Given the description of an element on the screen output the (x, y) to click on. 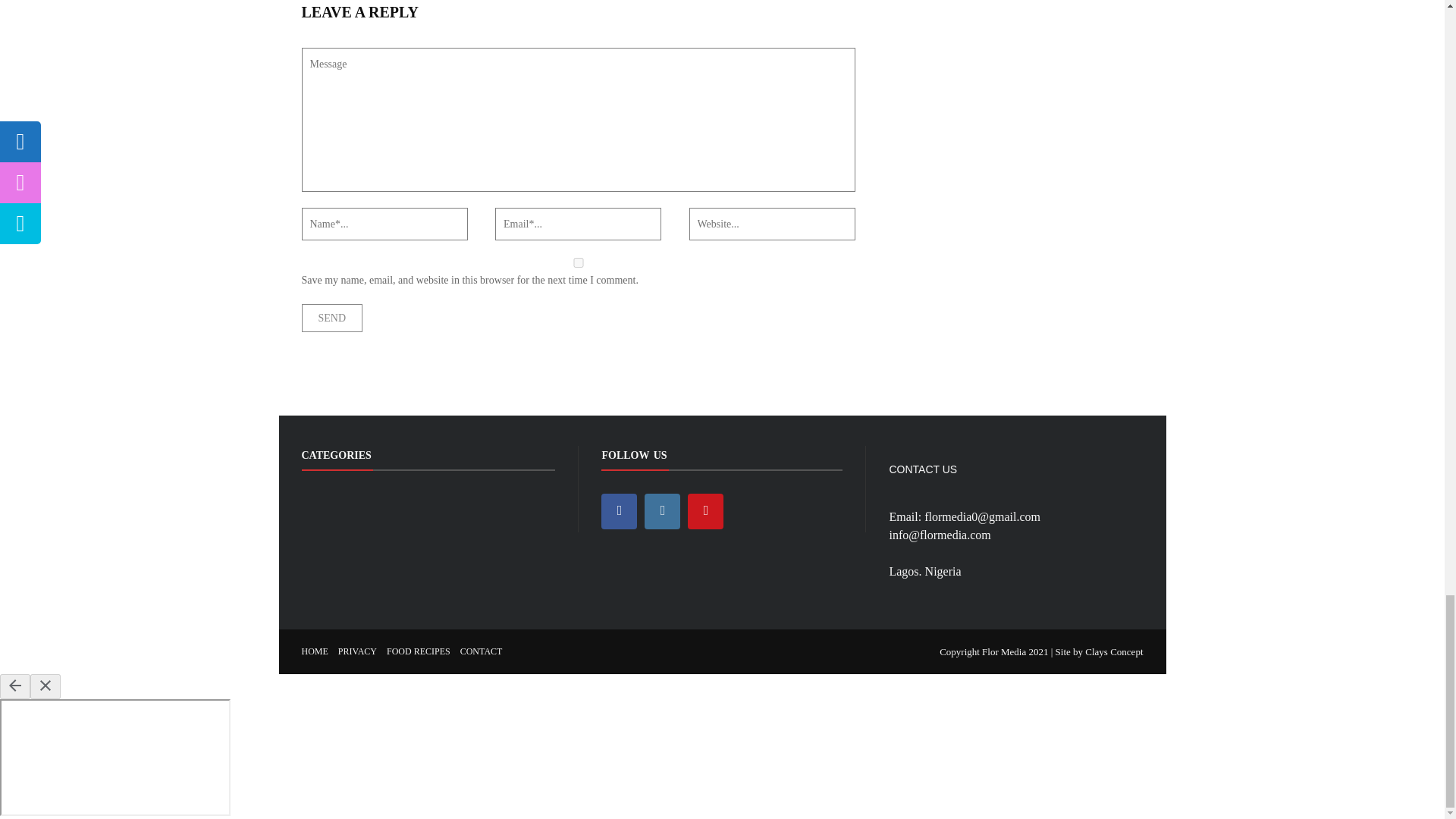
yes (578, 262)
Send (331, 317)
